Given the description of an element on the screen output the (x, y) to click on. 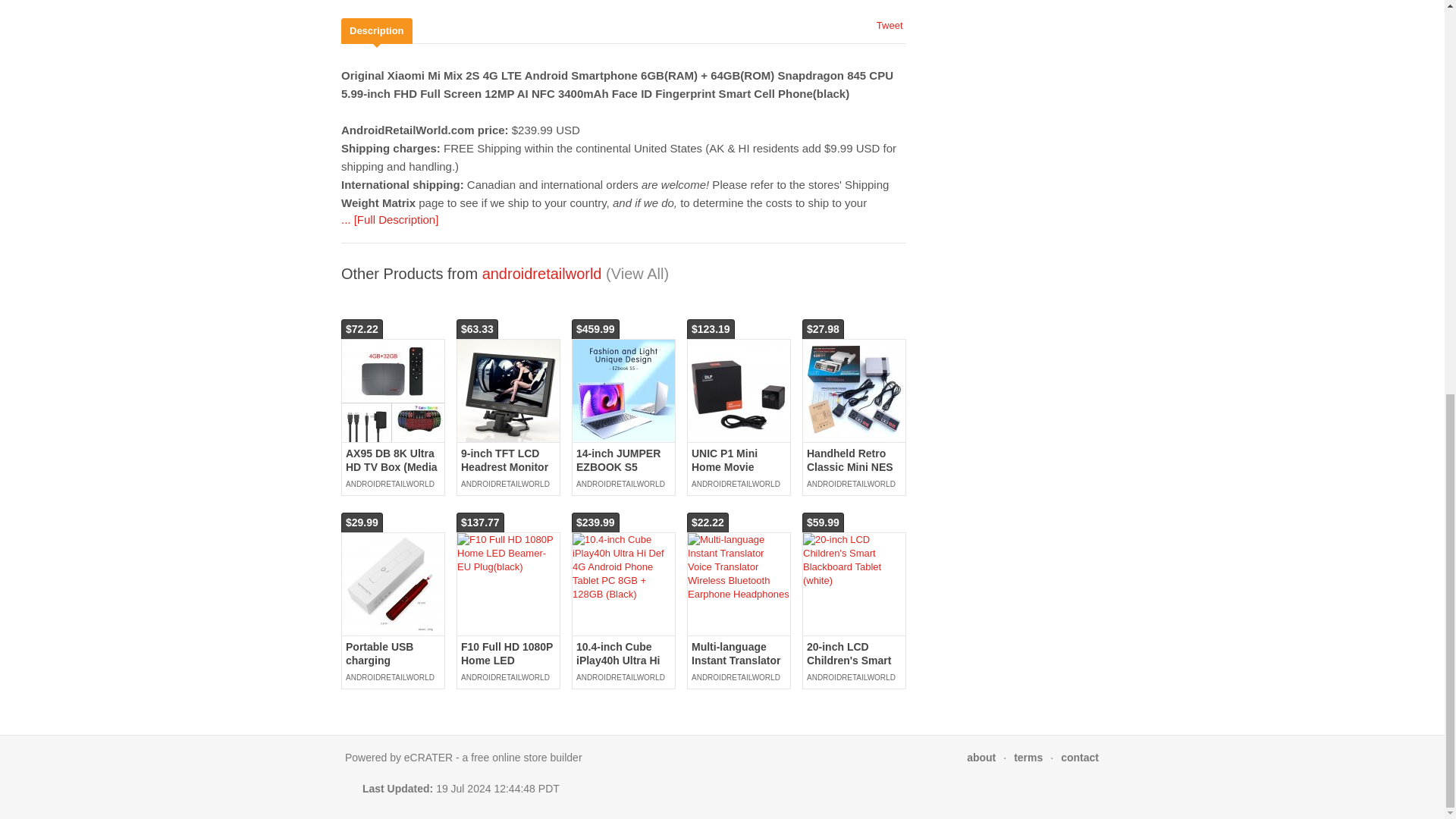
9-inch TFT LCD Headrest Monitor (508, 390)
Portable USB charging Aluminum Nail Polishing Tool Set (392, 667)
9-inch TFT LCD Headrest Monitor (504, 460)
Portable USB charging Aluminum Nail Polishing Tool Set (393, 584)
